Given the description of an element on the screen output the (x, y) to click on. 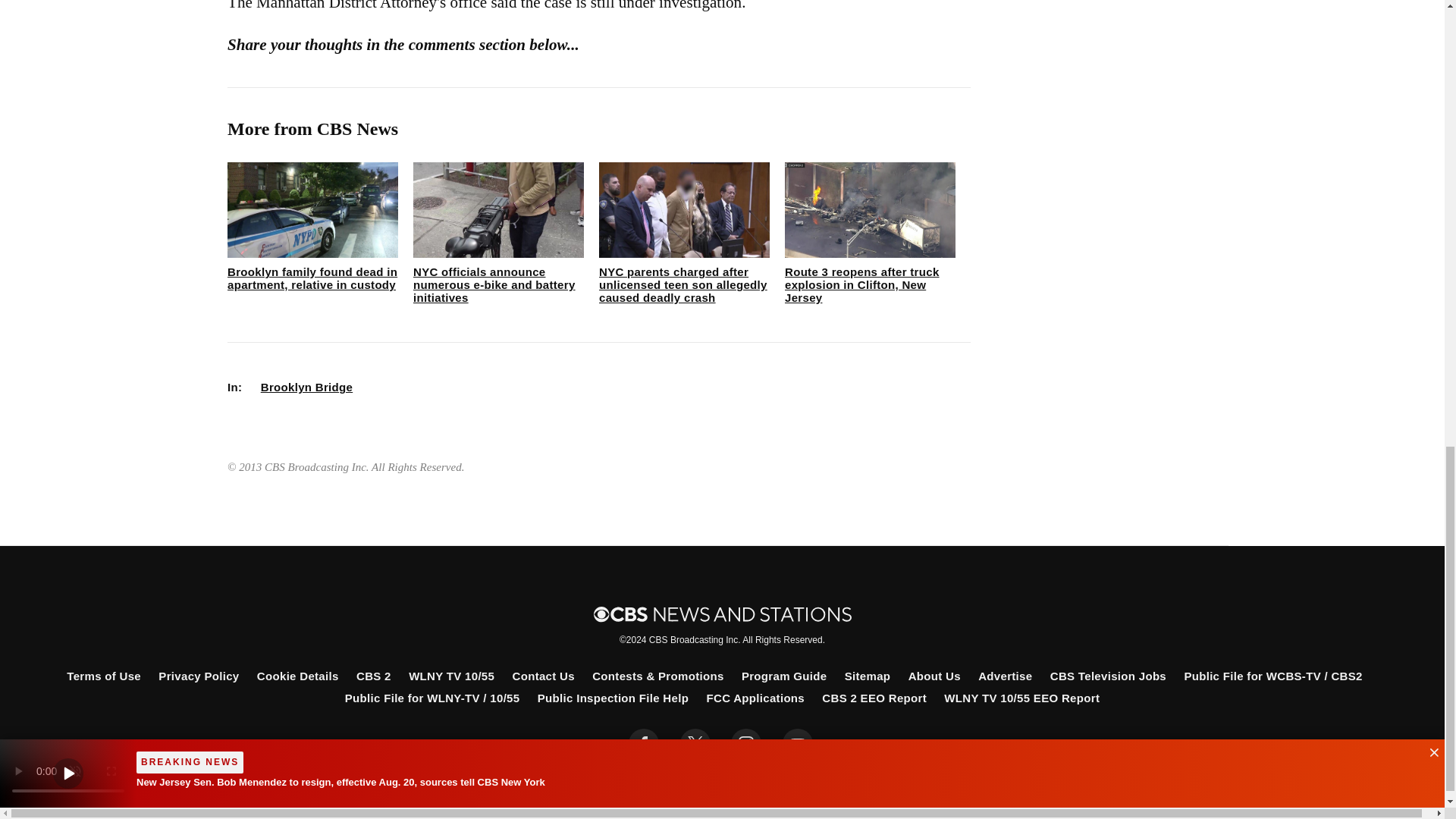
instagram (745, 743)
twitter (694, 743)
facebook (643, 743)
youtube (797, 743)
